Given the description of an element on the screen output the (x, y) to click on. 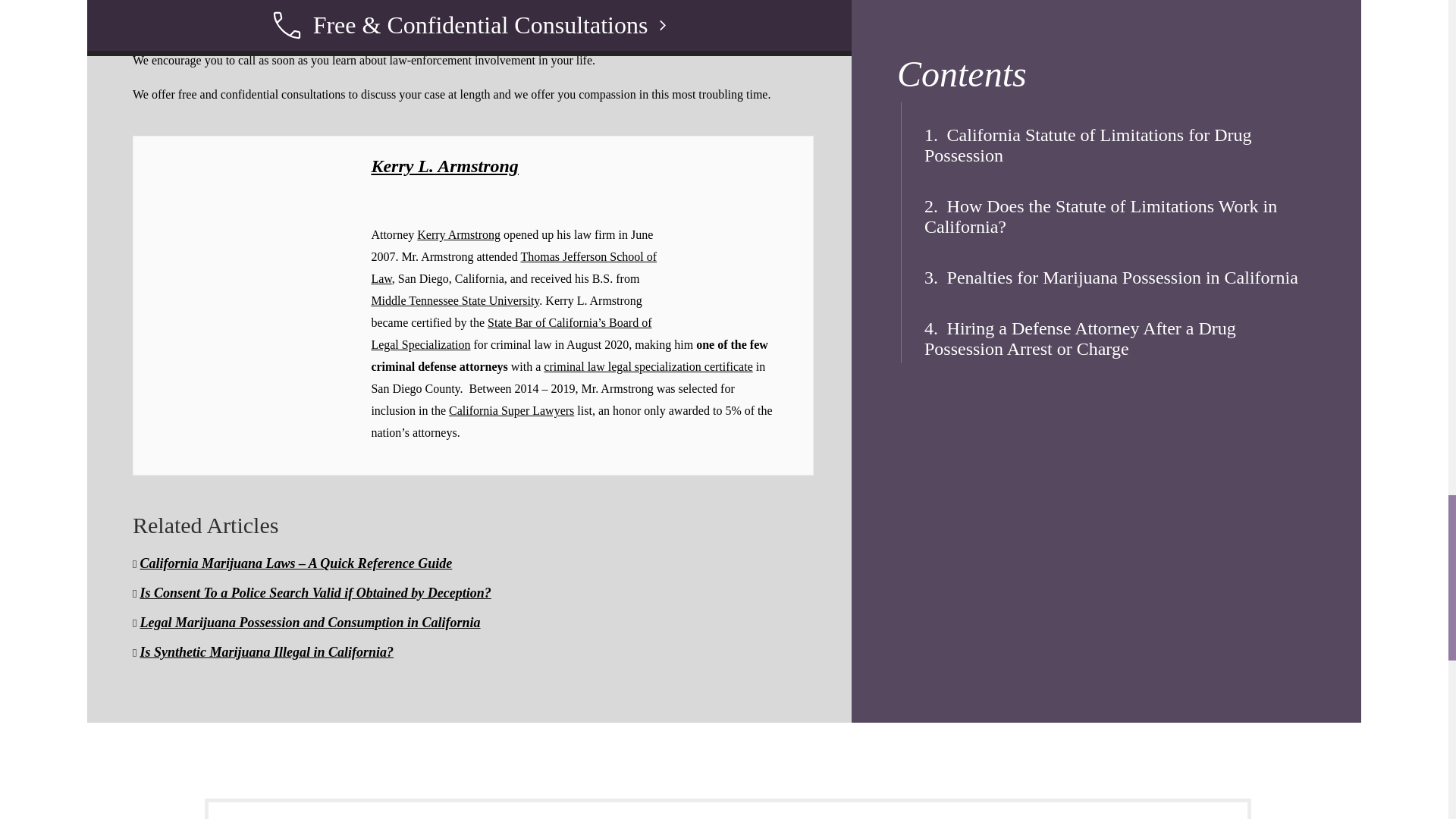
Kerry L. Armstrong (444, 166)
contact us online (523, 5)
Kerry Armstrong (458, 234)
Law Offices of Kerry L. Armstrong, APLC (277, 5)
619-234-2300 (432, 5)
